Given the description of an element on the screen output the (x, y) to click on. 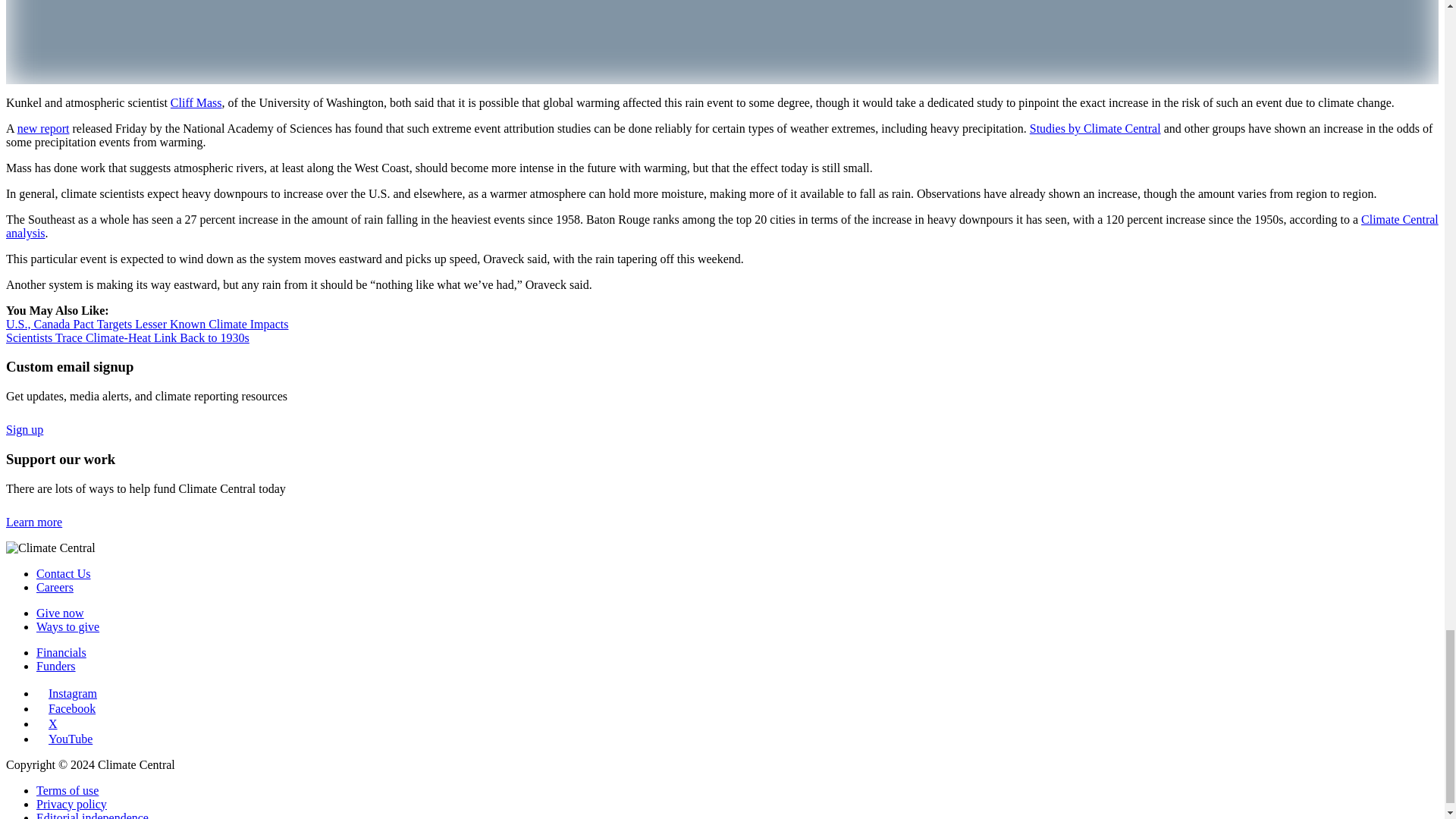
Cliff Mass (196, 102)
Contact Us (63, 573)
Careers (55, 586)
Sign up (33, 429)
Studies by Climate Central (1094, 128)
Learn more (42, 521)
new report (43, 128)
U.S., Canada Pact Targets Lesser Known Climate Impacts (146, 323)
Give now (60, 612)
Scientists Trace Climate-Heat Link Back to 1930s (126, 337)
